Given the description of an element on the screen output the (x, y) to click on. 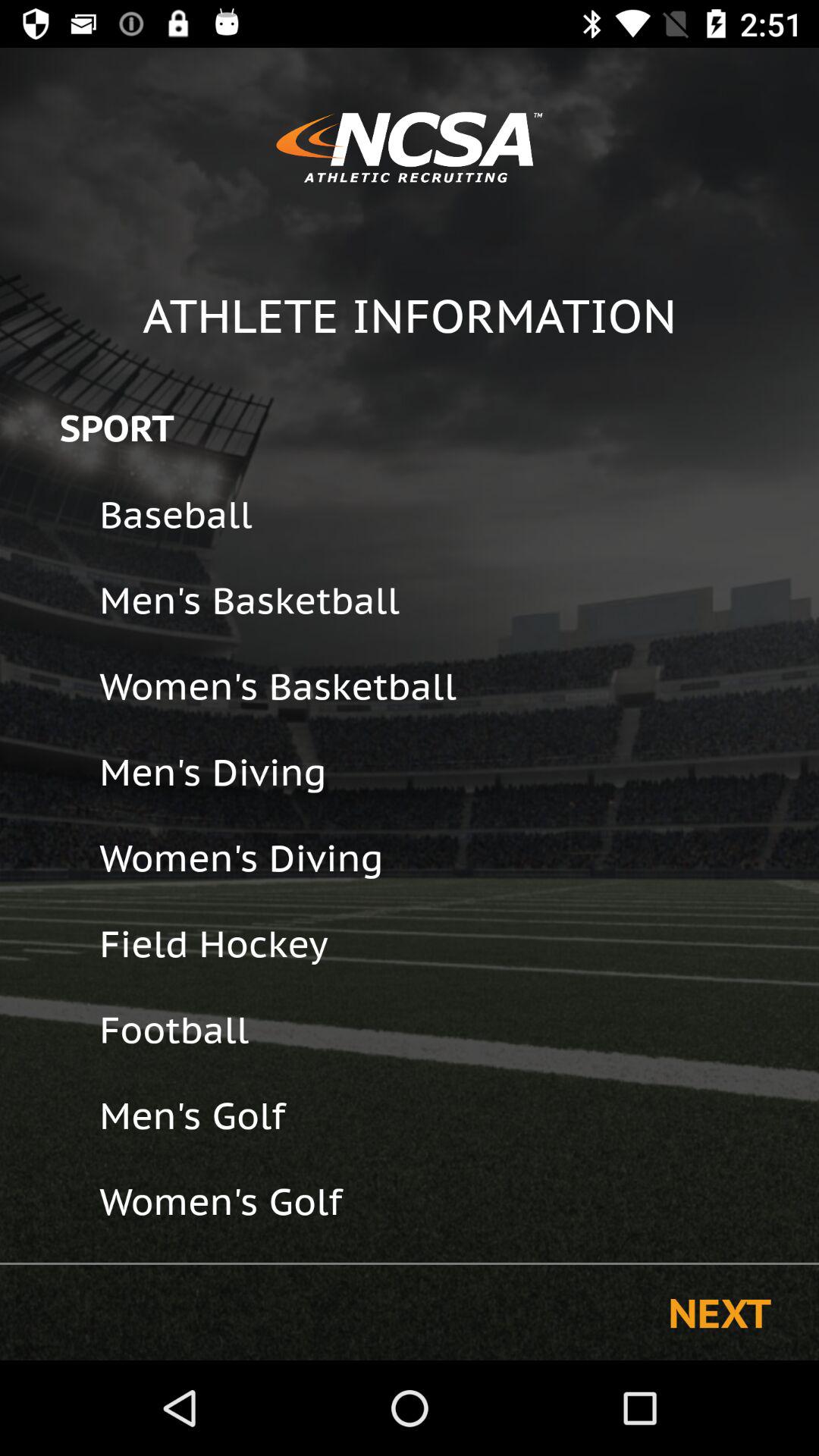
turn on the icon above the men's basketball icon (449, 514)
